Given the description of an element on the screen output the (x, y) to click on. 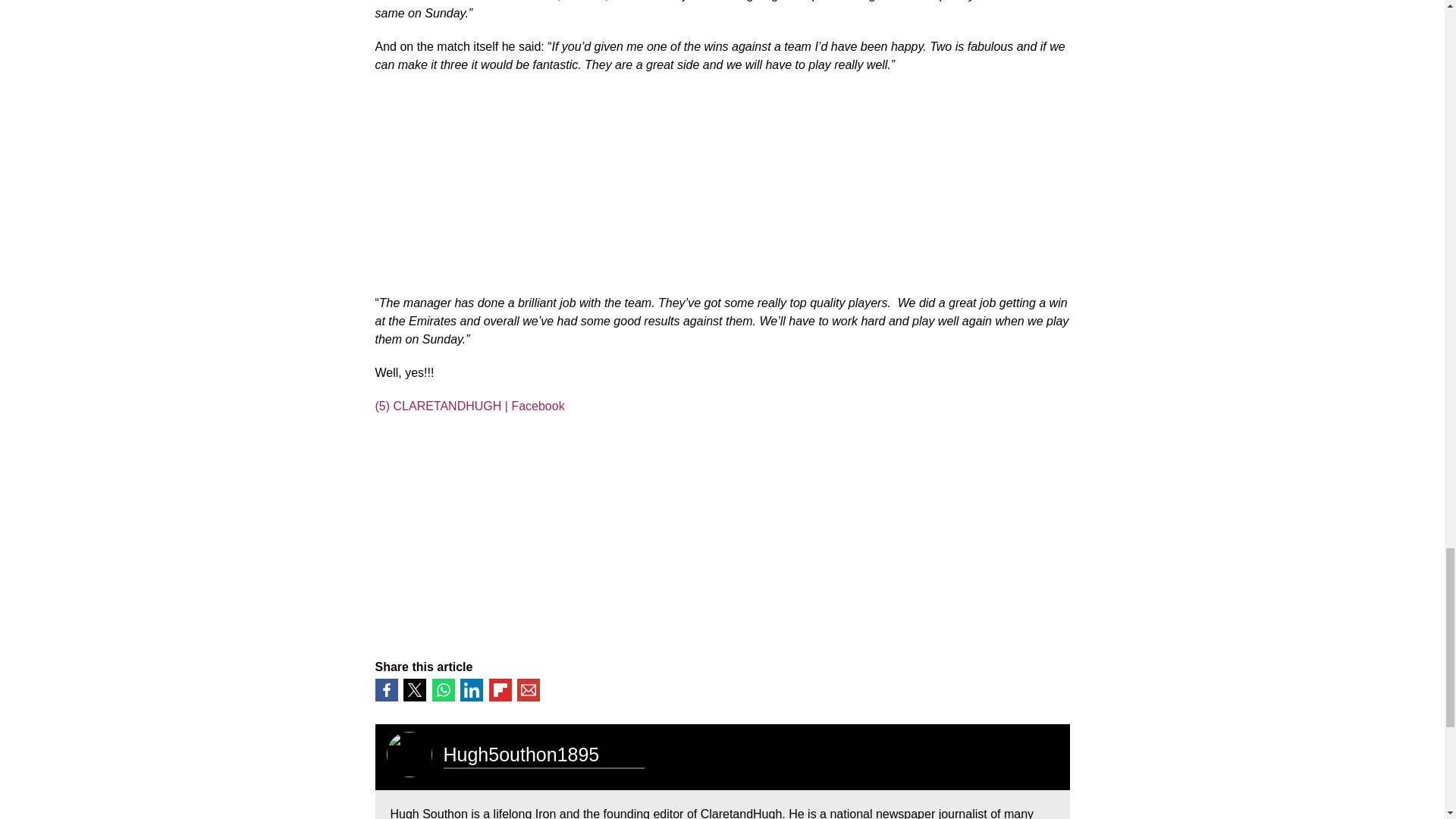
share on WhatsApp (443, 689)
share on Facebook (385, 689)
share on Twitter (414, 689)
